Given the description of an element on the screen output the (x, y) to click on. 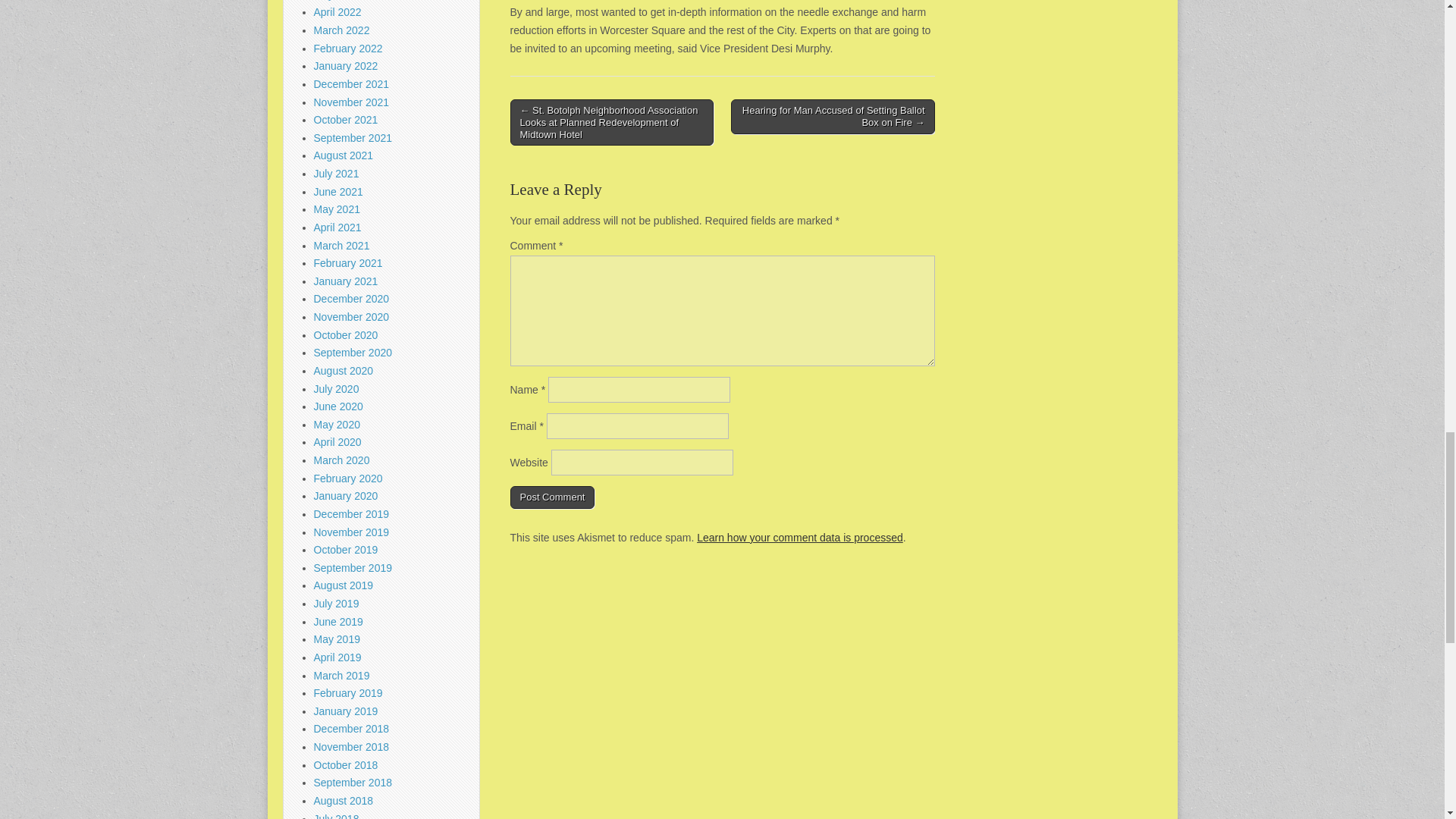
Post Comment (551, 497)
Learn how your comment data is processed (799, 537)
Post Comment (551, 497)
